Given the description of an element on the screen output the (x, y) to click on. 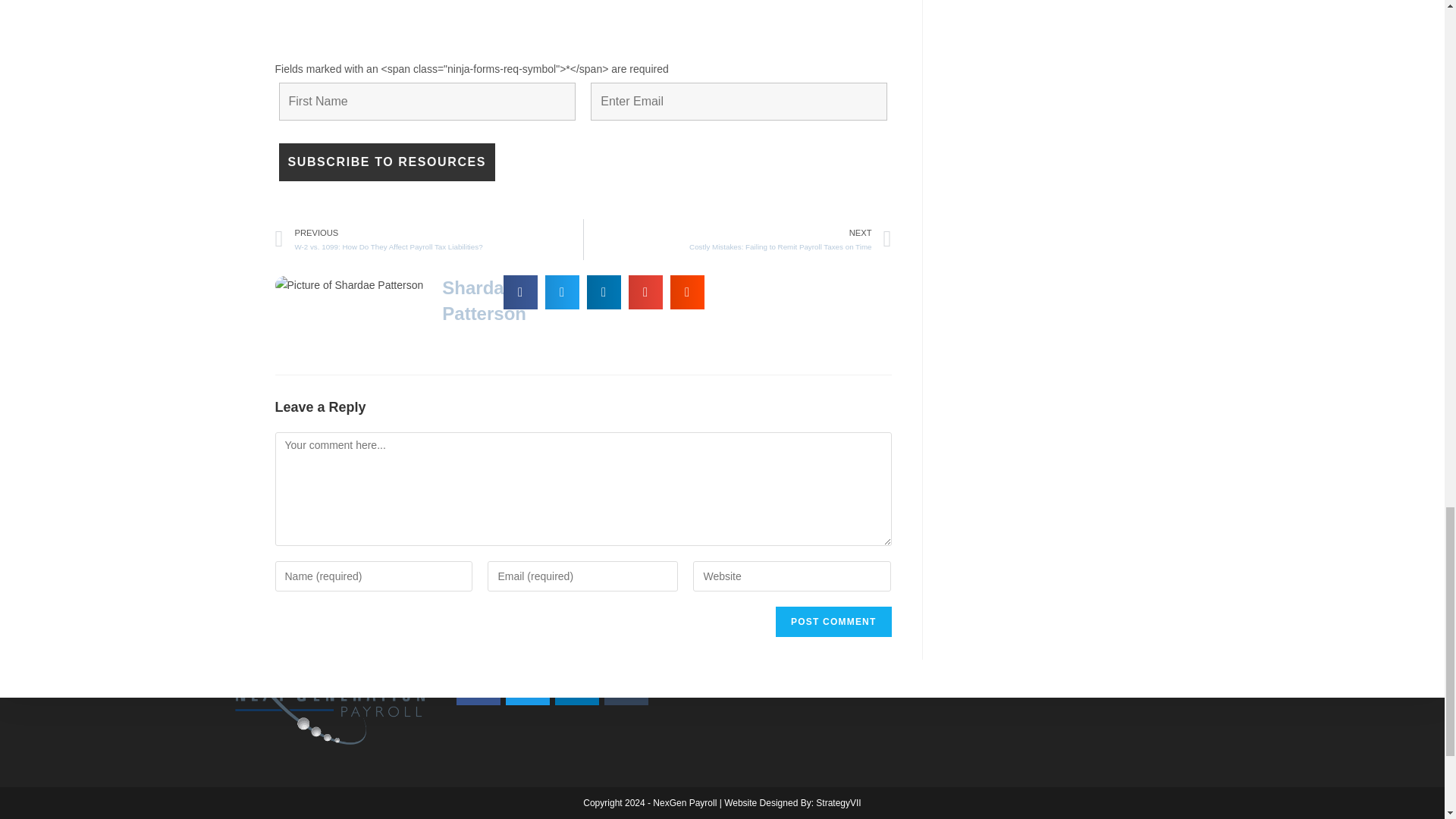
Subscribe To Resources (387, 161)
Post Comment (833, 621)
